Given the description of an element on the screen output the (x, y) to click on. 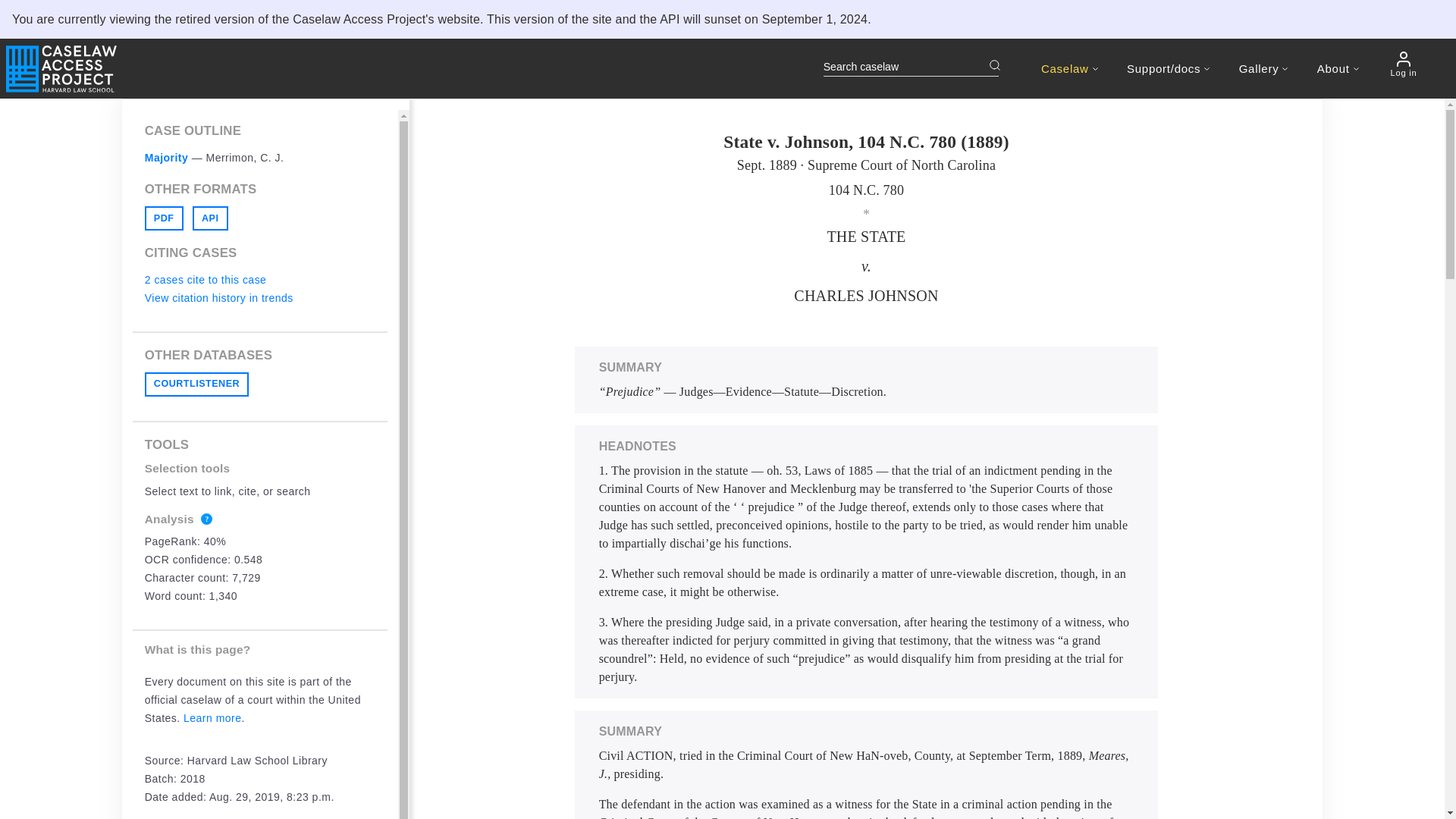
API (210, 218)
About (1338, 68)
Majority (166, 157)
Log in (1403, 64)
Caselaw (1069, 68)
2 cases cite to this case (205, 279)
Gallery (1263, 68)
PDF (163, 218)
View citation history in trends (219, 297)
COURTLISTENER (196, 384)
